Given the description of an element on the screen output the (x, y) to click on. 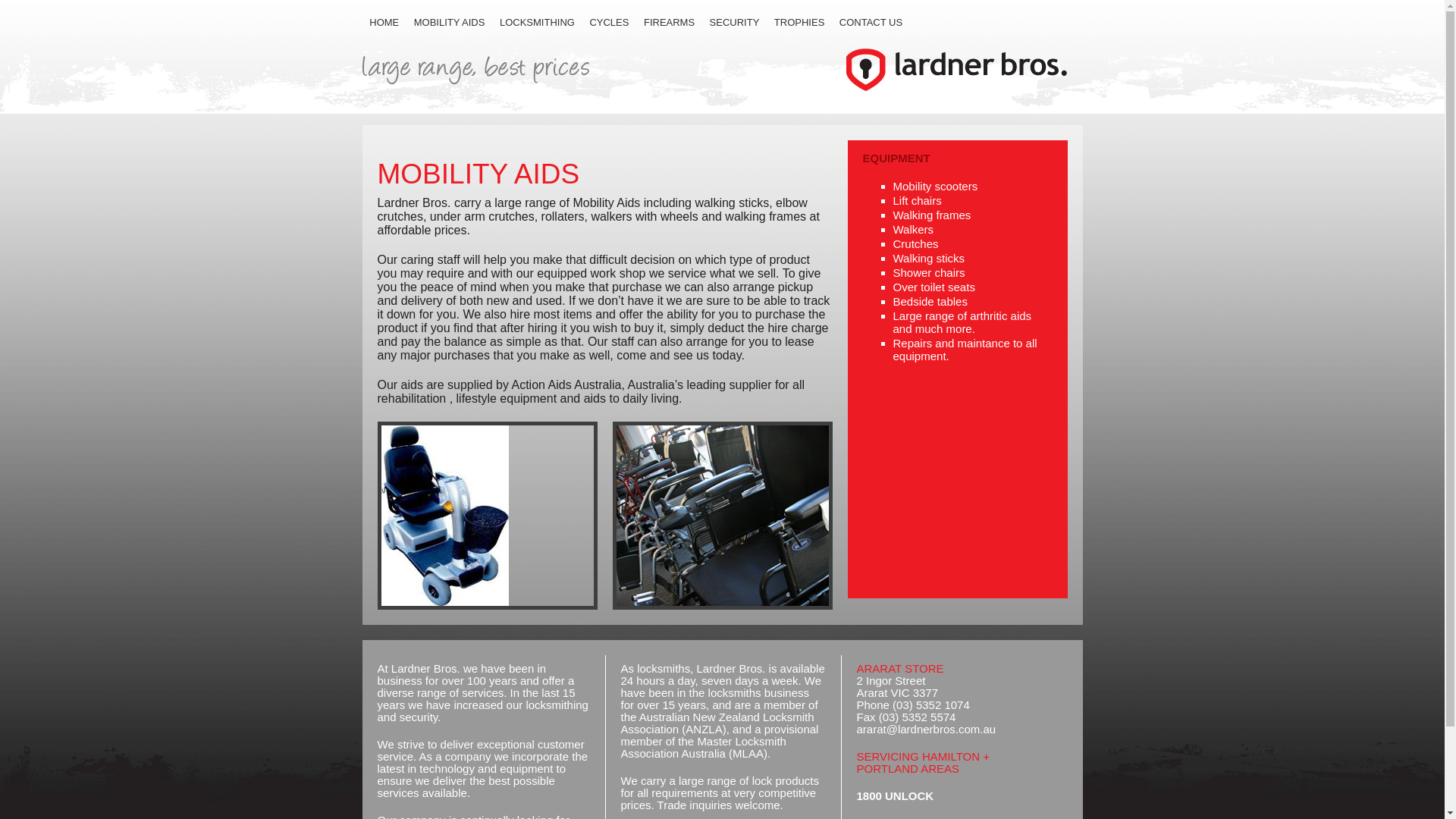
ararat@lardnerbros.com.au Element type: text (926, 728)
CYCLES Element type: text (609, 21)
SECURITY Element type: text (734, 21)
TROPHIES Element type: text (798, 21)
HOME Element type: text (384, 21)
LOCKSMITHING Element type: text (536, 21)
CONTACT US Element type: text (870, 21)
MOBILITY AIDS Element type: text (449, 21)
FIREARMS Element type: text (669, 21)
